Given the description of an element on the screen output the (x, y) to click on. 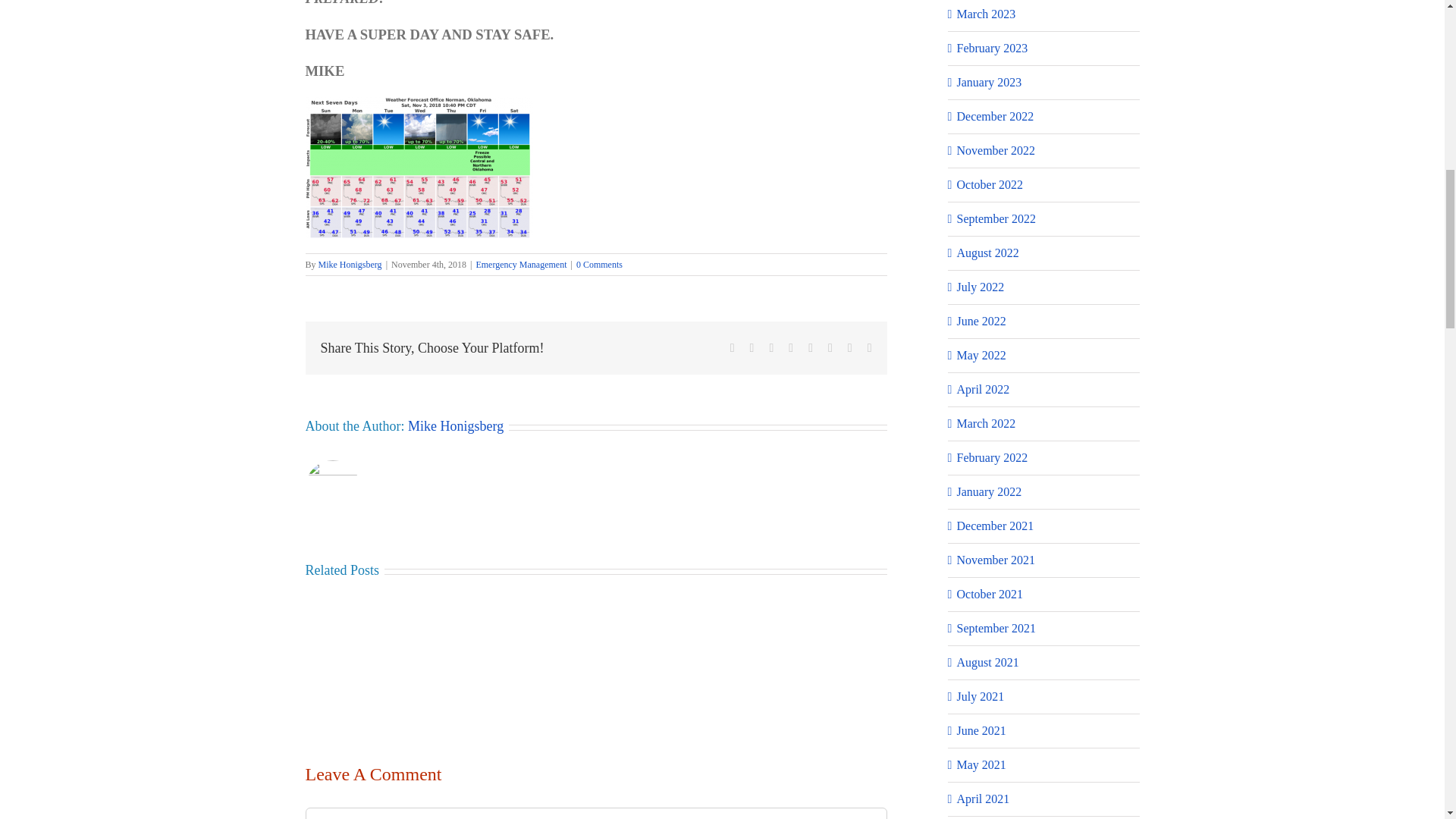
Posts by Mike Honigsberg (455, 426)
Posts by Mike Honigsberg (349, 264)
